Given the description of an element on the screen output the (x, y) to click on. 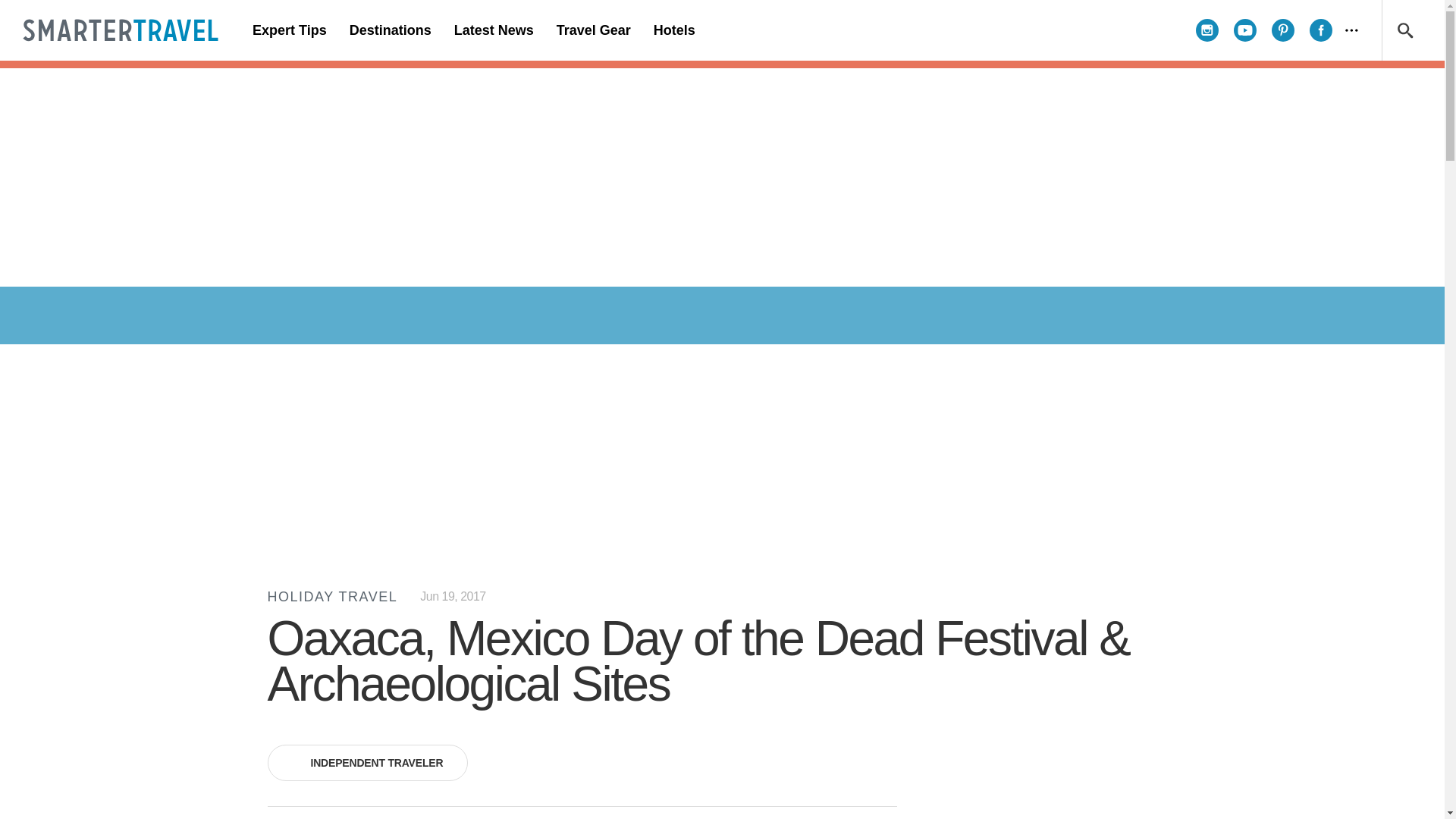
Latest News (493, 30)
Hotels (674, 30)
Destinations (389, 30)
Expert Tips (289, 30)
Travel Gear (593, 30)
